Given the description of an element on the screen output the (x, y) to click on. 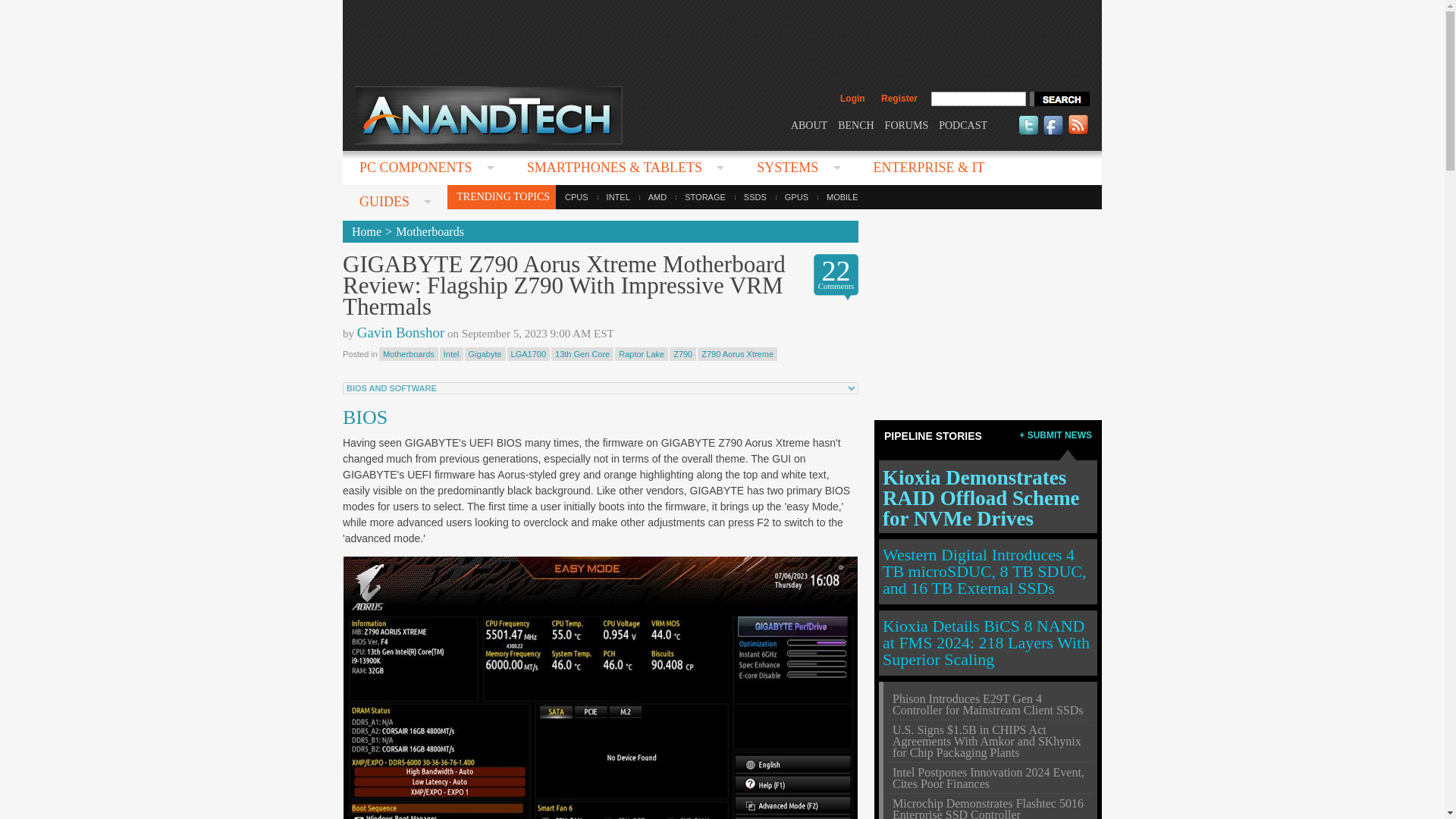
ABOUT (808, 125)
search (1059, 98)
PODCAST (963, 125)
search (1059, 98)
Register (898, 98)
BENCH (855, 125)
search (1059, 98)
FORUMS (906, 125)
Login (852, 98)
